Given the description of an element on the screen output the (x, y) to click on. 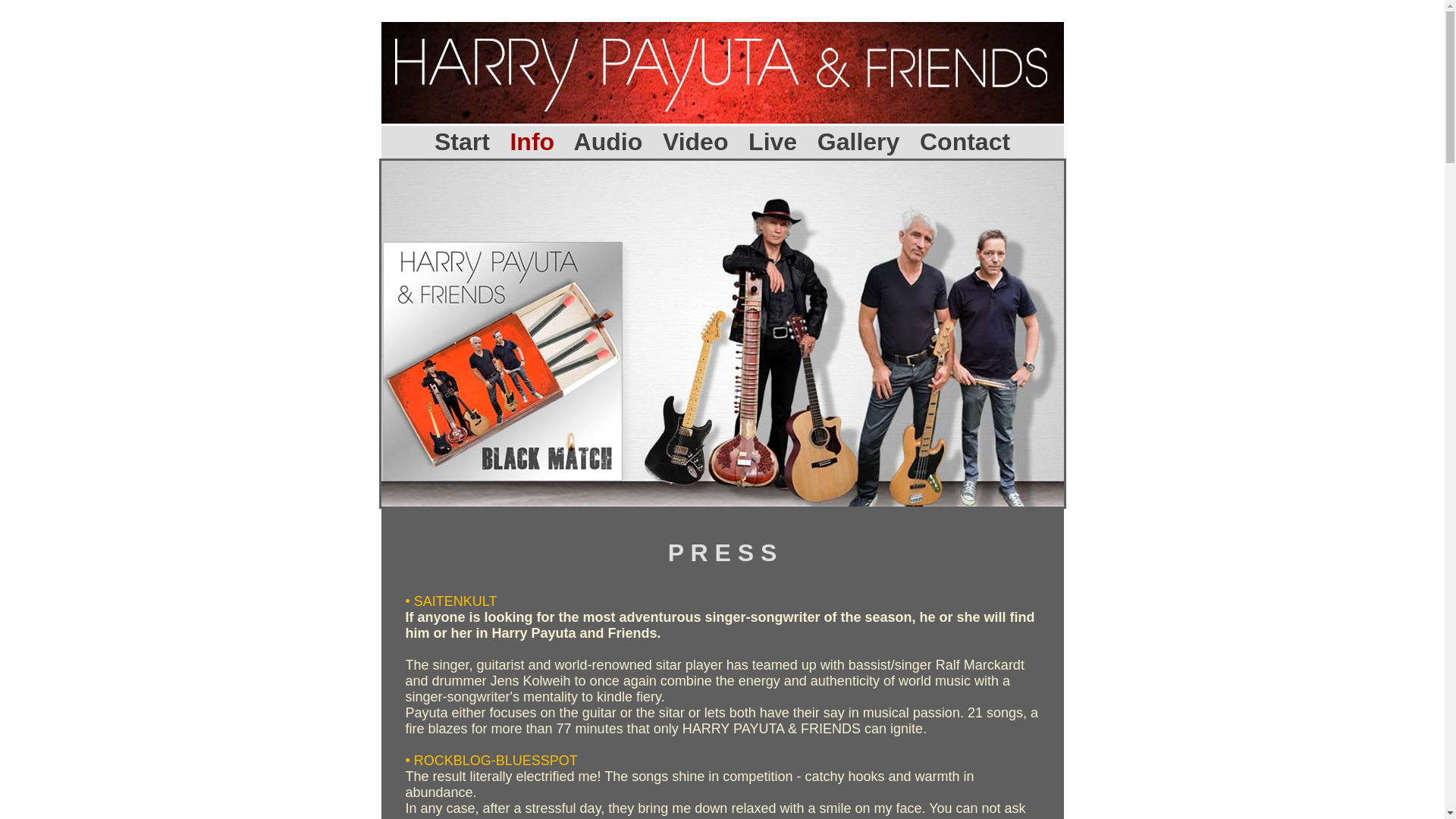
Gallery (857, 141)
Contact (965, 141)
Video (695, 141)
Live (772, 141)
Audio (608, 141)
Start (461, 141)
